Given the description of an element on the screen output the (x, y) to click on. 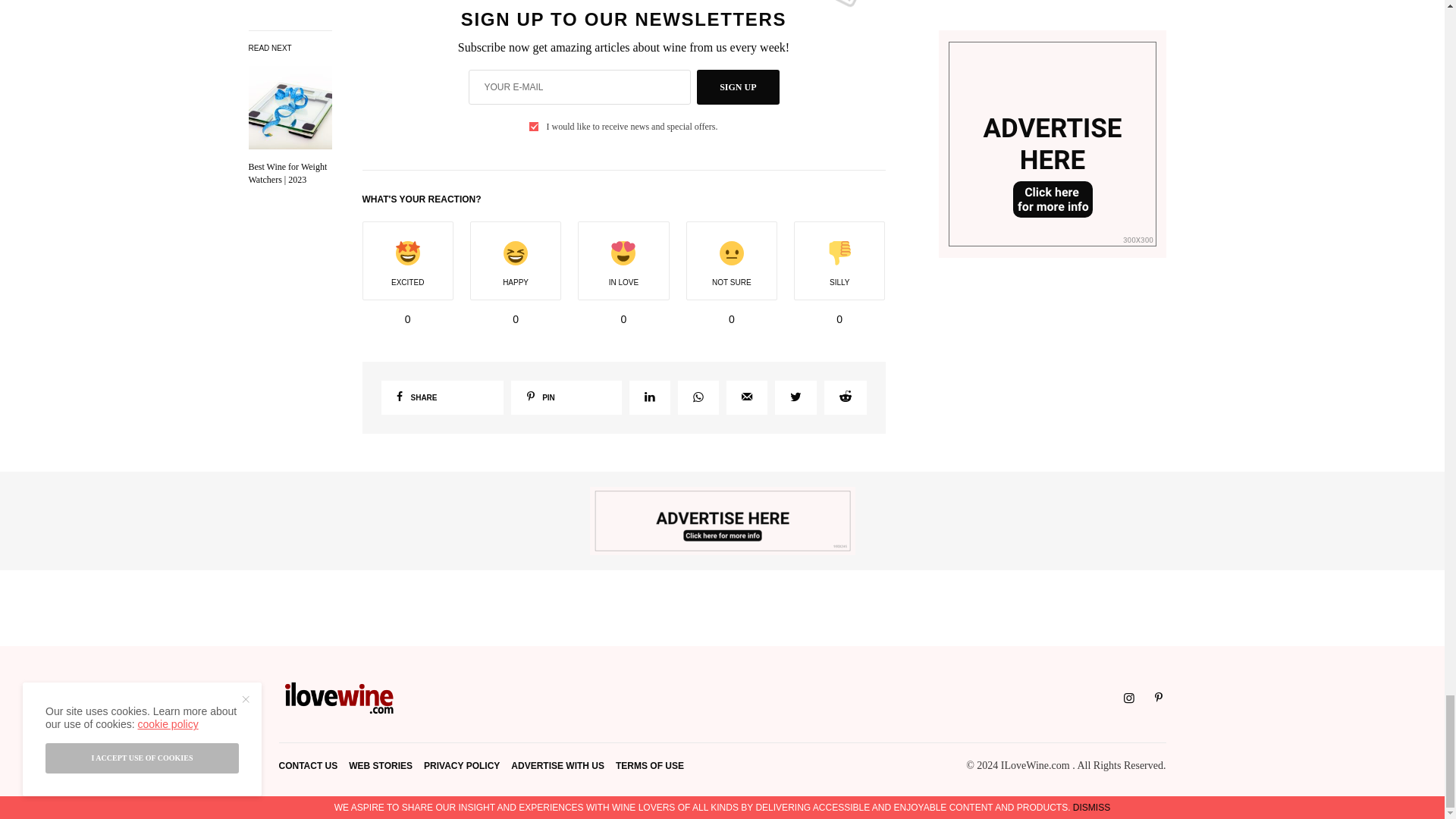
I Love Wine (339, 698)
